Given the description of an element on the screen output the (x, y) to click on. 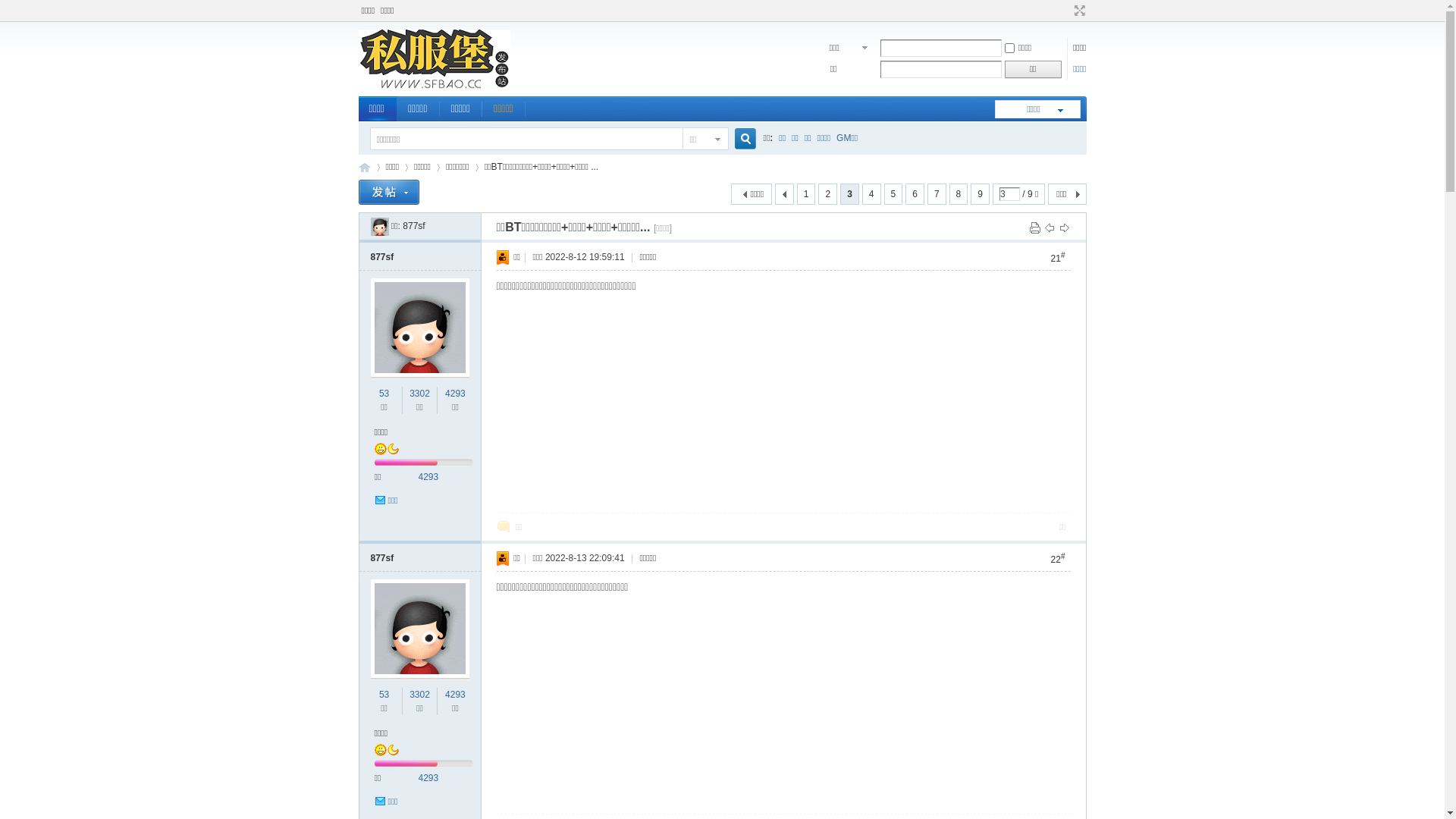
4293 Element type: text (455, 393)
22# Element type: text (1057, 558)
877sf Element type: hover (379, 225)
5 Element type: text (893, 193)
4 Element type: text (871, 193)
53 Element type: text (384, 393)
1 Element type: text (806, 193)
   Element type: text (784, 193)
3302 Element type: text (419, 694)
true Element type: text (738, 138)
4293 Element type: text (455, 694)
4293 Element type: text (428, 476)
877sf Element type: text (381, 256)
9 Element type: text (979, 193)
8 Element type: text (958, 193)
53 Element type: text (384, 694)
877sf Element type: text (381, 557)
7 Element type: text (936, 193)
2 Element type: text (827, 193)
21# Element type: text (1057, 257)
6 Element type: text (914, 193)
4293 Element type: text (428, 777)
877sf Element type: text (413, 225)
3302 Element type: text (419, 393)
